Given the description of an element on the screen output the (x, y) to click on. 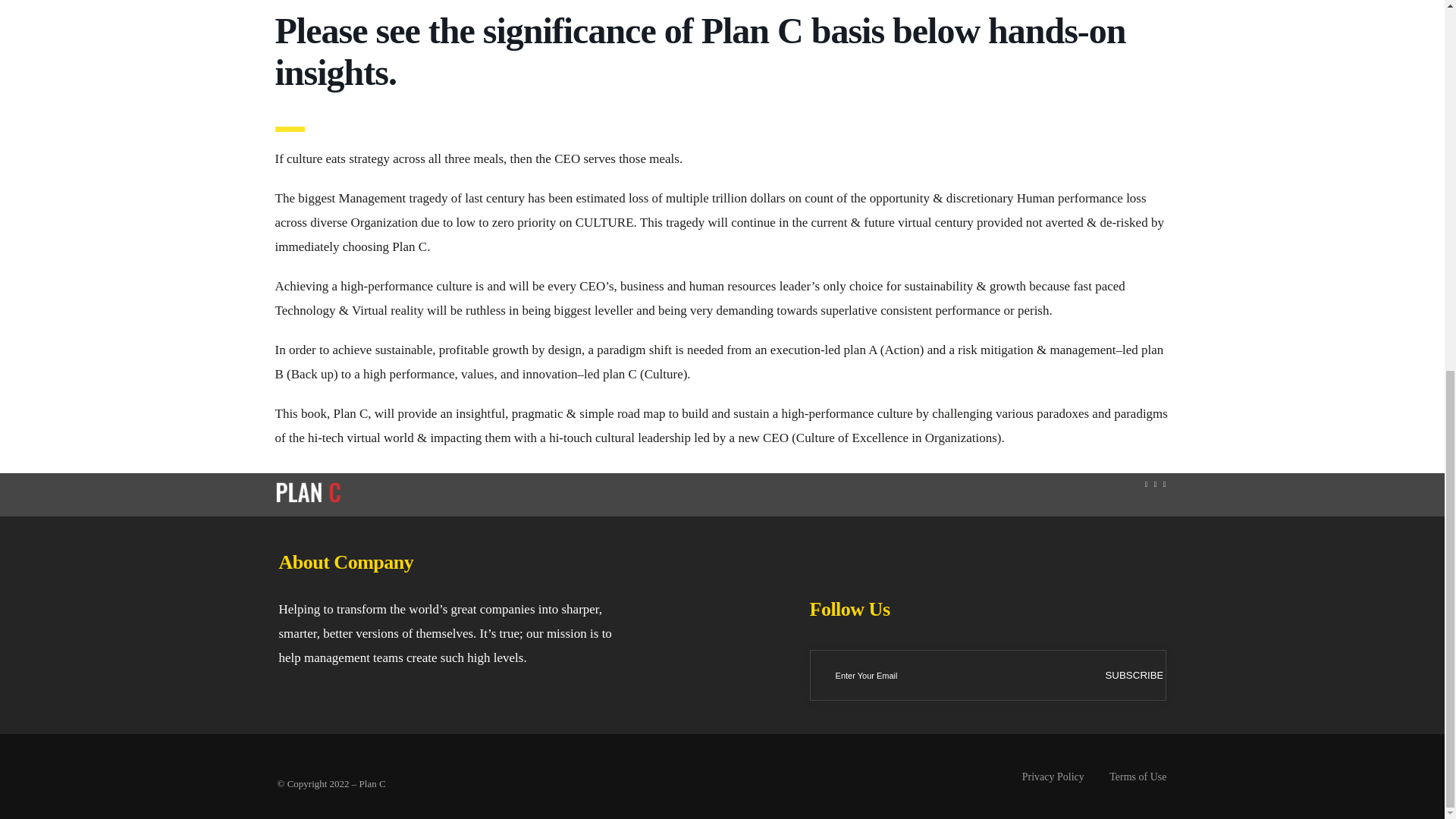
Terms of Use (1128, 776)
SUBSCRIBE (1133, 675)
Privacy Policy (1043, 776)
